Given the description of an element on the screen output the (x, y) to click on. 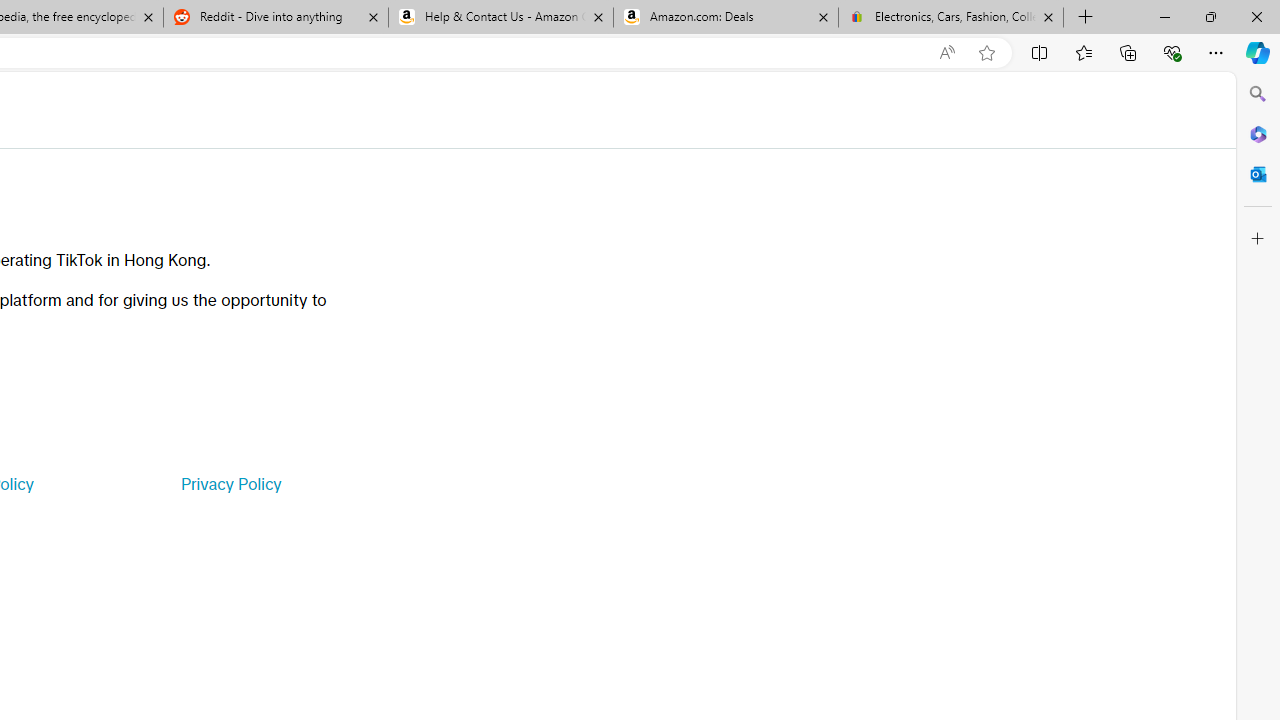
Help & Contact Us - Amazon Customer Service (501, 17)
Reddit - Dive into anything (275, 17)
Privacy Policy (230, 484)
Amazon.com: Deals (726, 17)
